Given the description of an element on the screen output the (x, y) to click on. 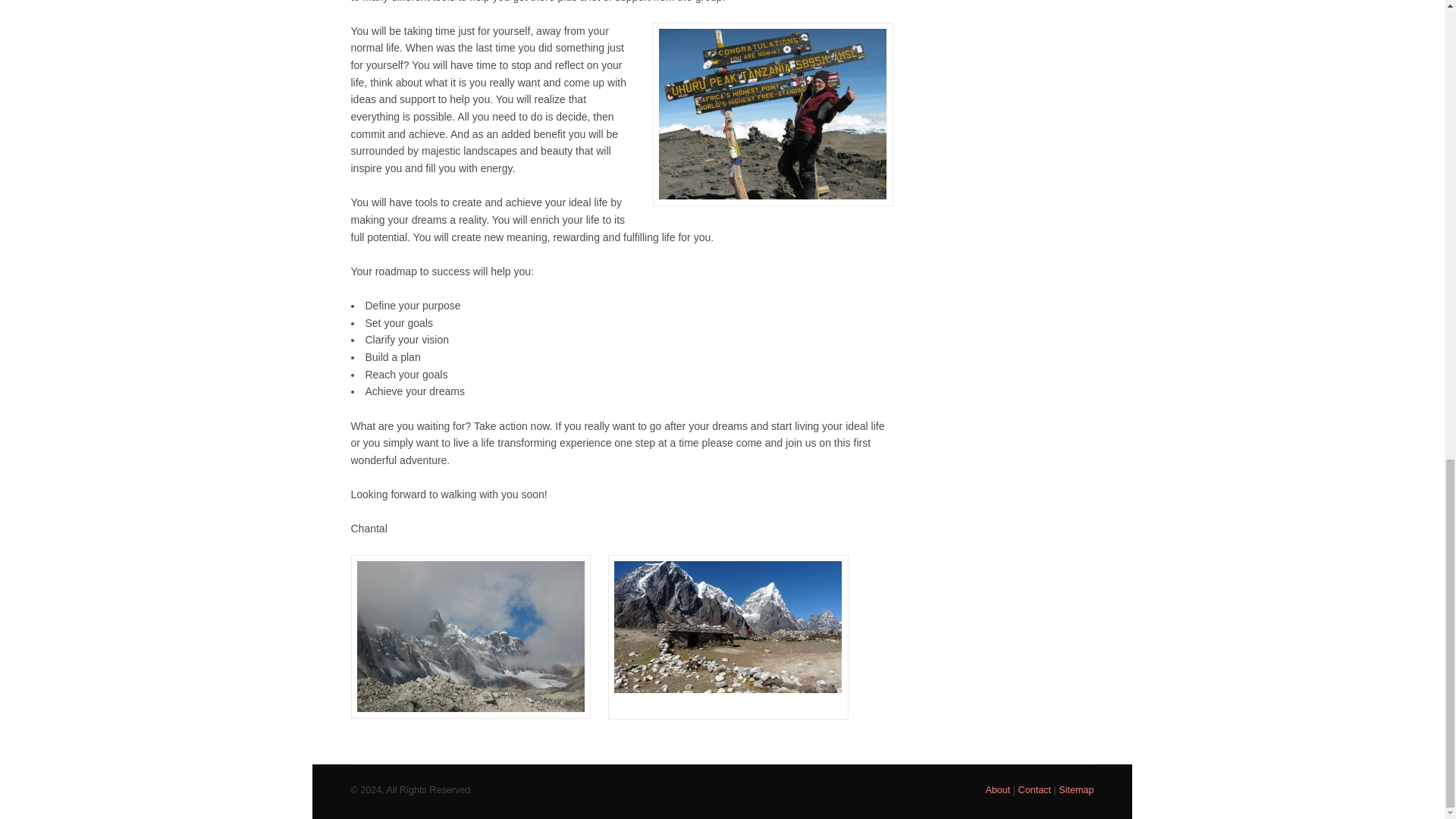
Sitemap (1075, 789)
About (997, 789)
Contact (1034, 789)
